Given the description of an element on the screen output the (x, y) to click on. 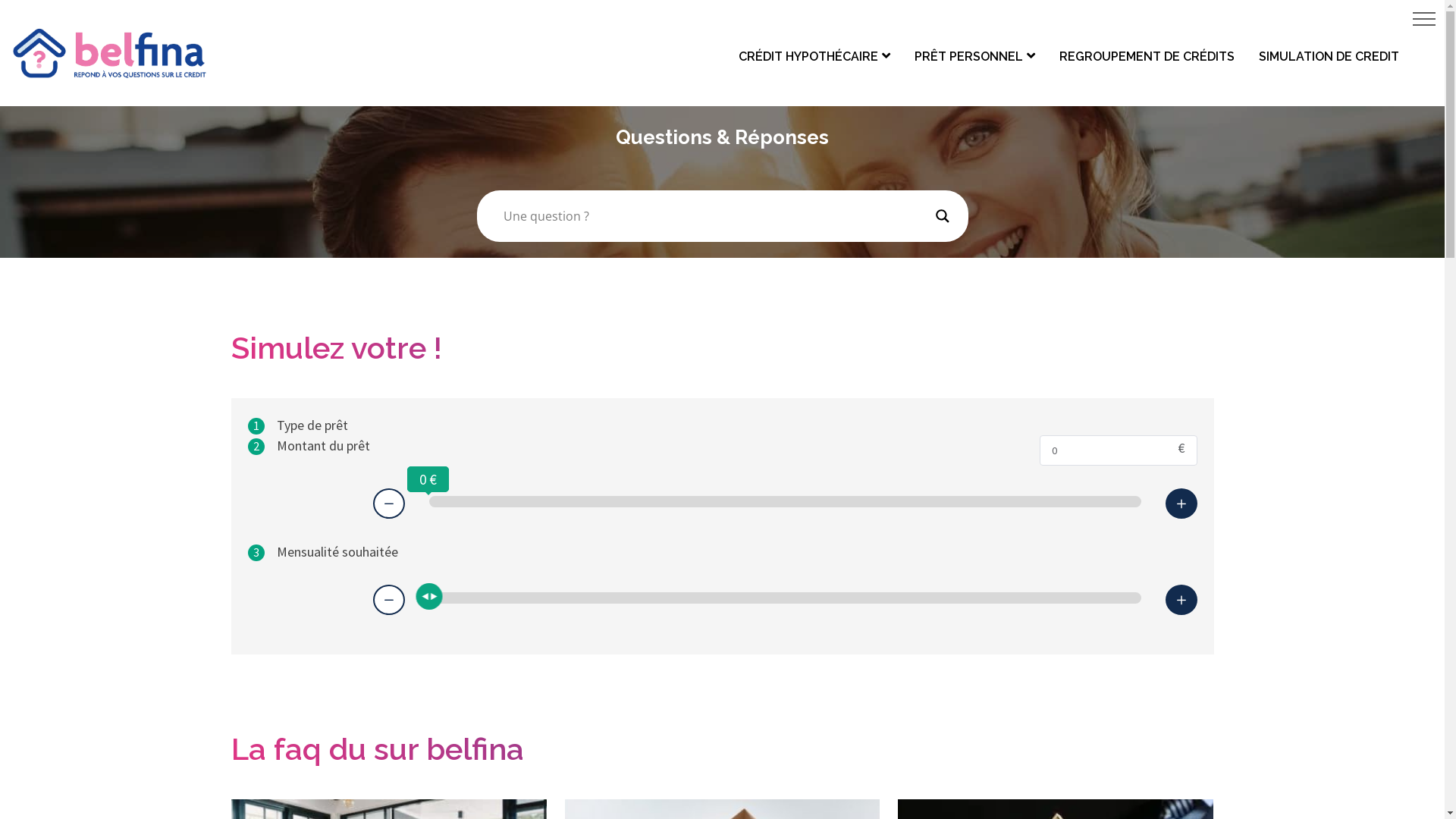
SIMULATION DE CREDIT Element type: text (1328, 55)
